Given the description of an element on the screen output the (x, y) to click on. 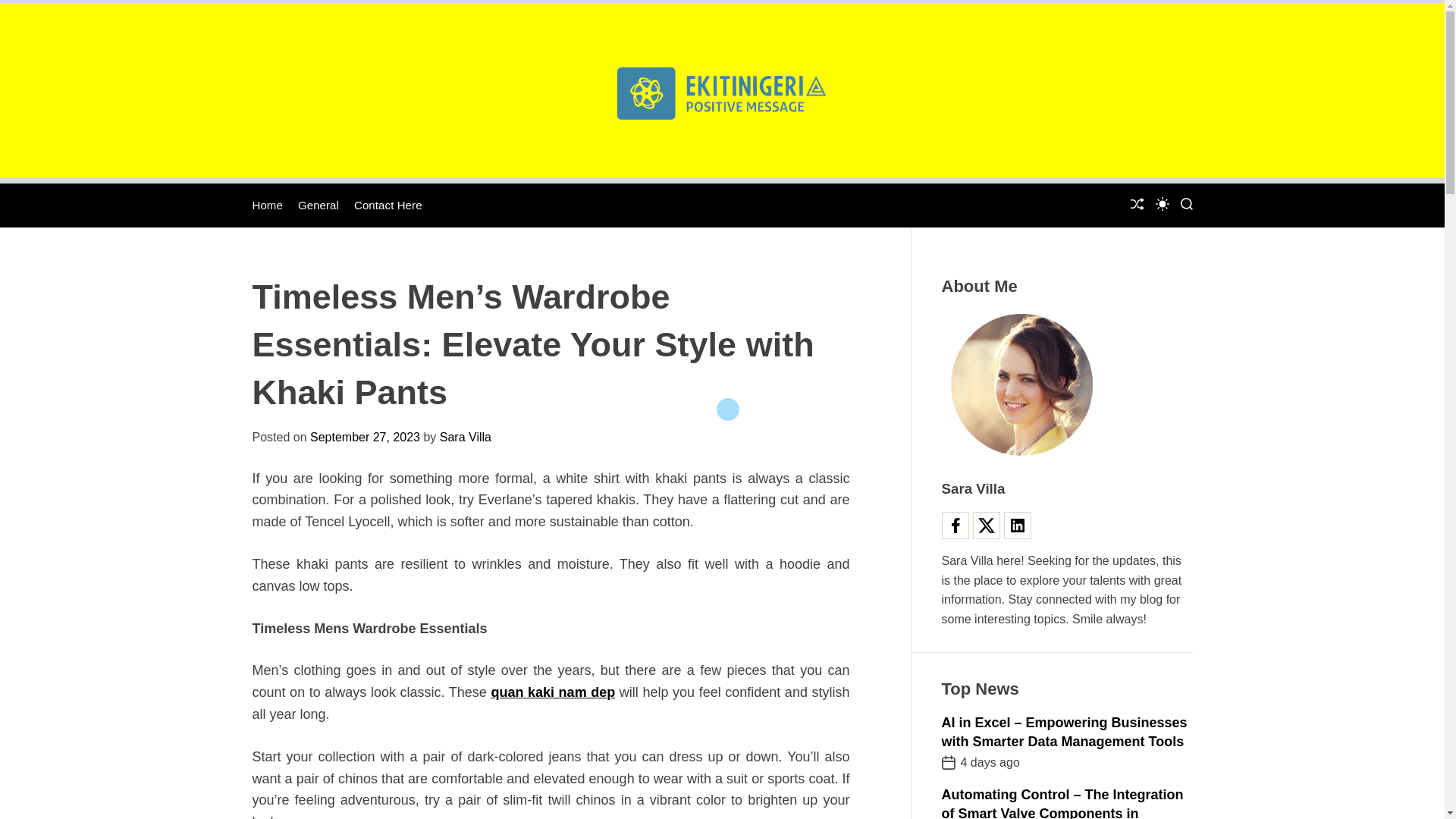
SWITCH COLOR MODE (1162, 203)
Sara Villa (465, 436)
Contact Here (387, 205)
September 27, 2023 (365, 436)
Home (266, 205)
quan kaki nam dep (552, 692)
General (318, 205)
